Given the description of an element on the screen output the (x, y) to click on. 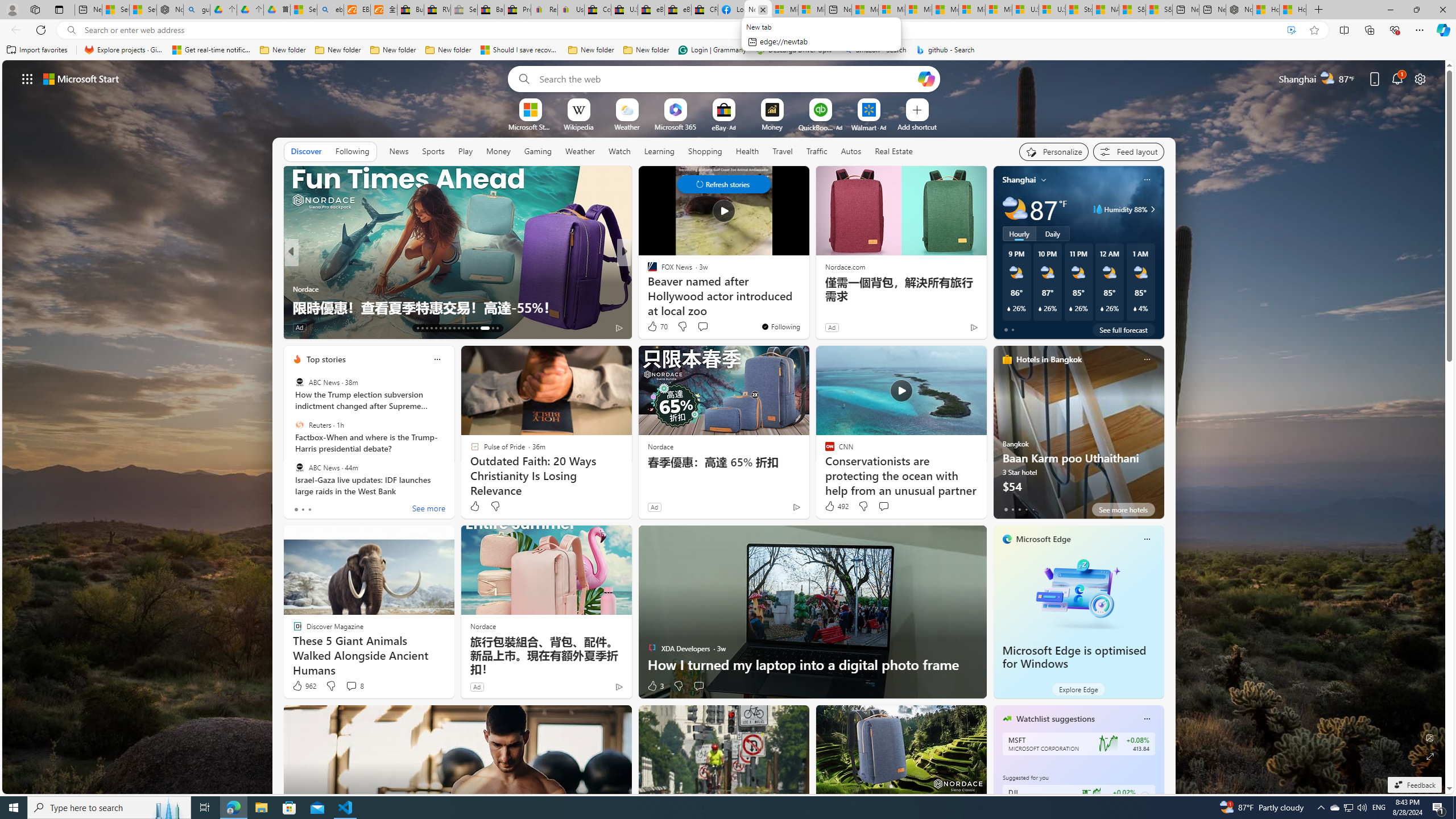
Class: icon-img (1146, 718)
Class: weather-arrow-glyph (1152, 208)
Open Copilot (925, 78)
tab-1 (1012, 509)
tab-2 (1019, 509)
App launcher (27, 78)
More options (1146, 718)
Add a site (916, 126)
AutomationID: tab-14 (422, 328)
